Given the description of an element on the screen output the (x, y) to click on. 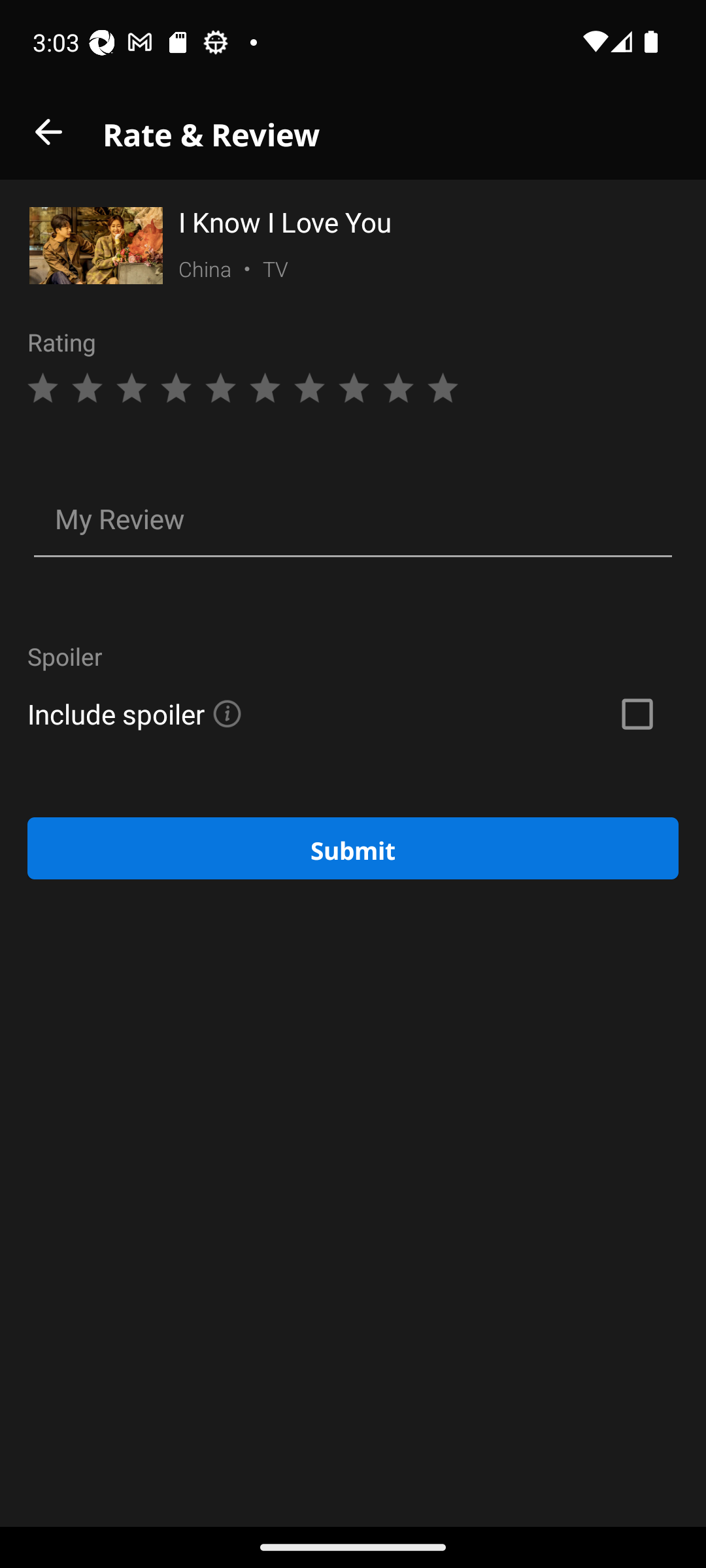
close_button (48, 131)
My Review (352, 521)
Submit (352, 847)
